Given the description of an element on the screen output the (x, y) to click on. 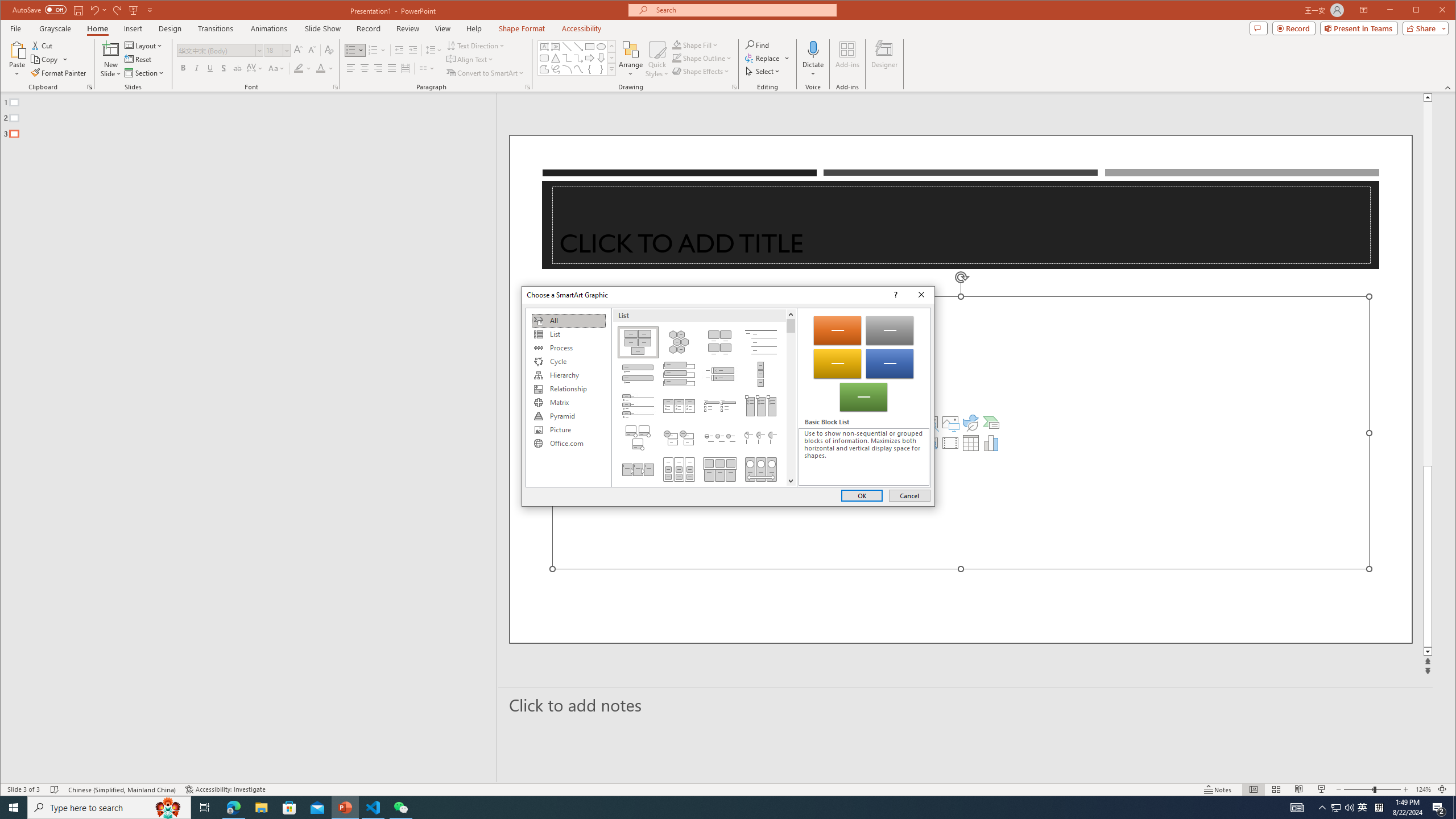
Font... (335, 86)
Class: NetUITextbox (862, 456)
Horizontal Picture List (719, 469)
Designer (884, 59)
Line Spacing (433, 49)
Class: NetUIImage (612, 69)
PowerPoint - 1 running window (345, 807)
Office.com (568, 443)
Vertical Text Box (556, 46)
Font (219, 49)
Q2790: 100% (1349, 807)
